Given the description of an element on the screen output the (x, y) to click on. 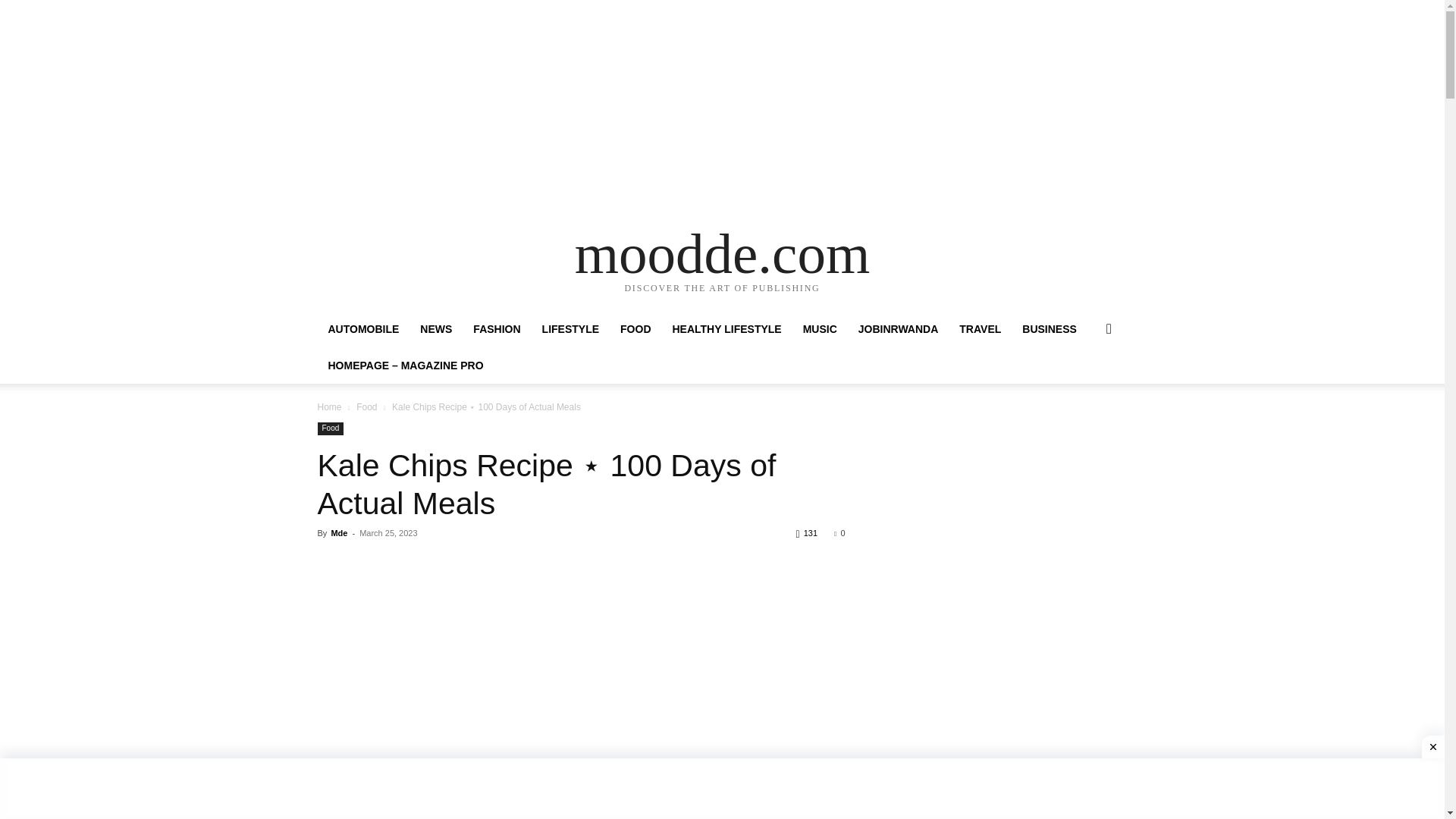
BUSINESS (1049, 329)
Home (328, 407)
HEALTHY LIFESTYLE (726, 329)
NEWS (436, 329)
Mde (338, 532)
MUSIC (819, 329)
Food (366, 407)
LIFESTYLE (570, 329)
FASHION (497, 329)
